Given the description of an element on the screen output the (x, y) to click on. 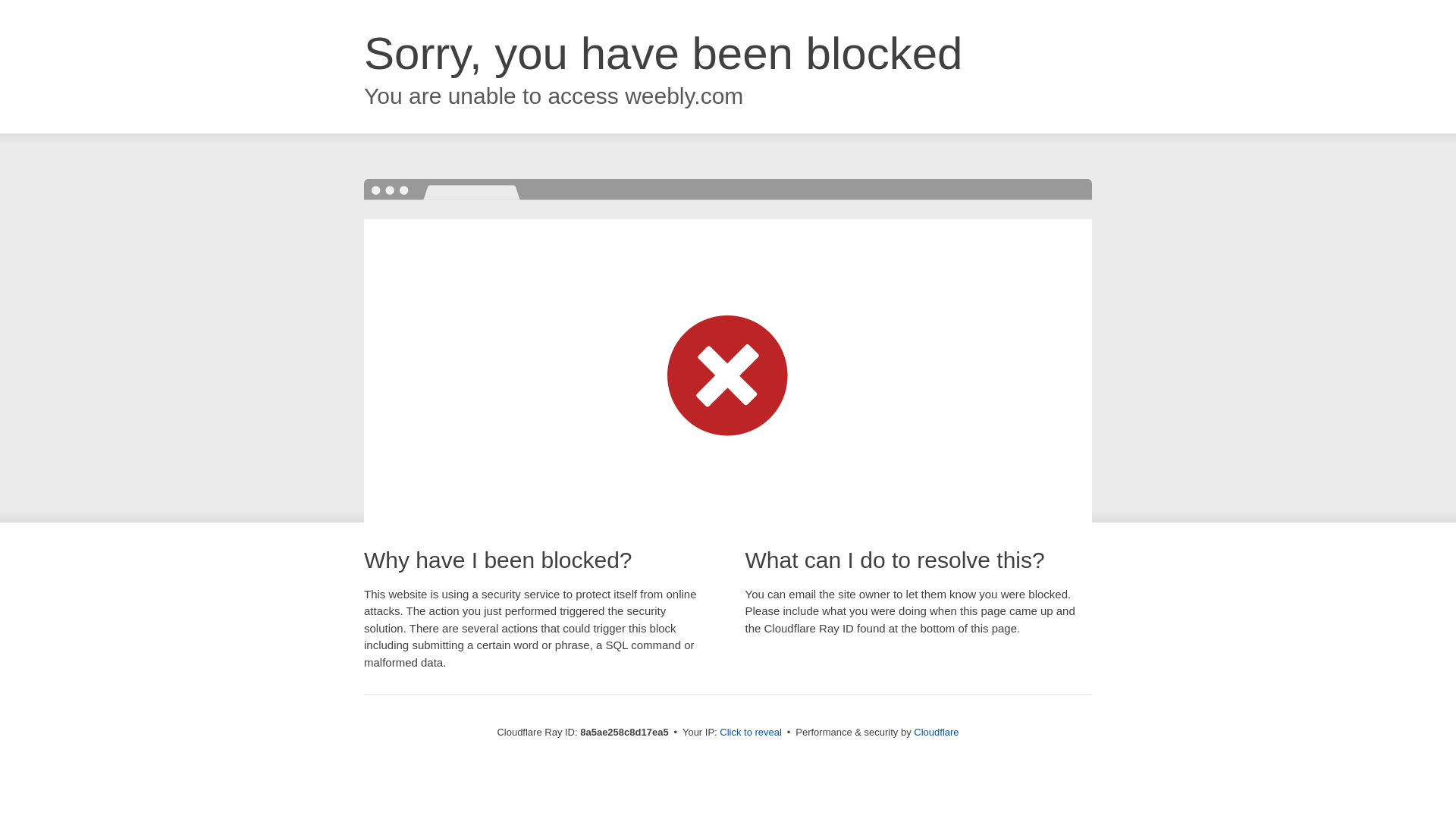
Click to reveal (750, 732)
Cloudflare (936, 731)
